Given the description of an element on the screen output the (x, y) to click on. 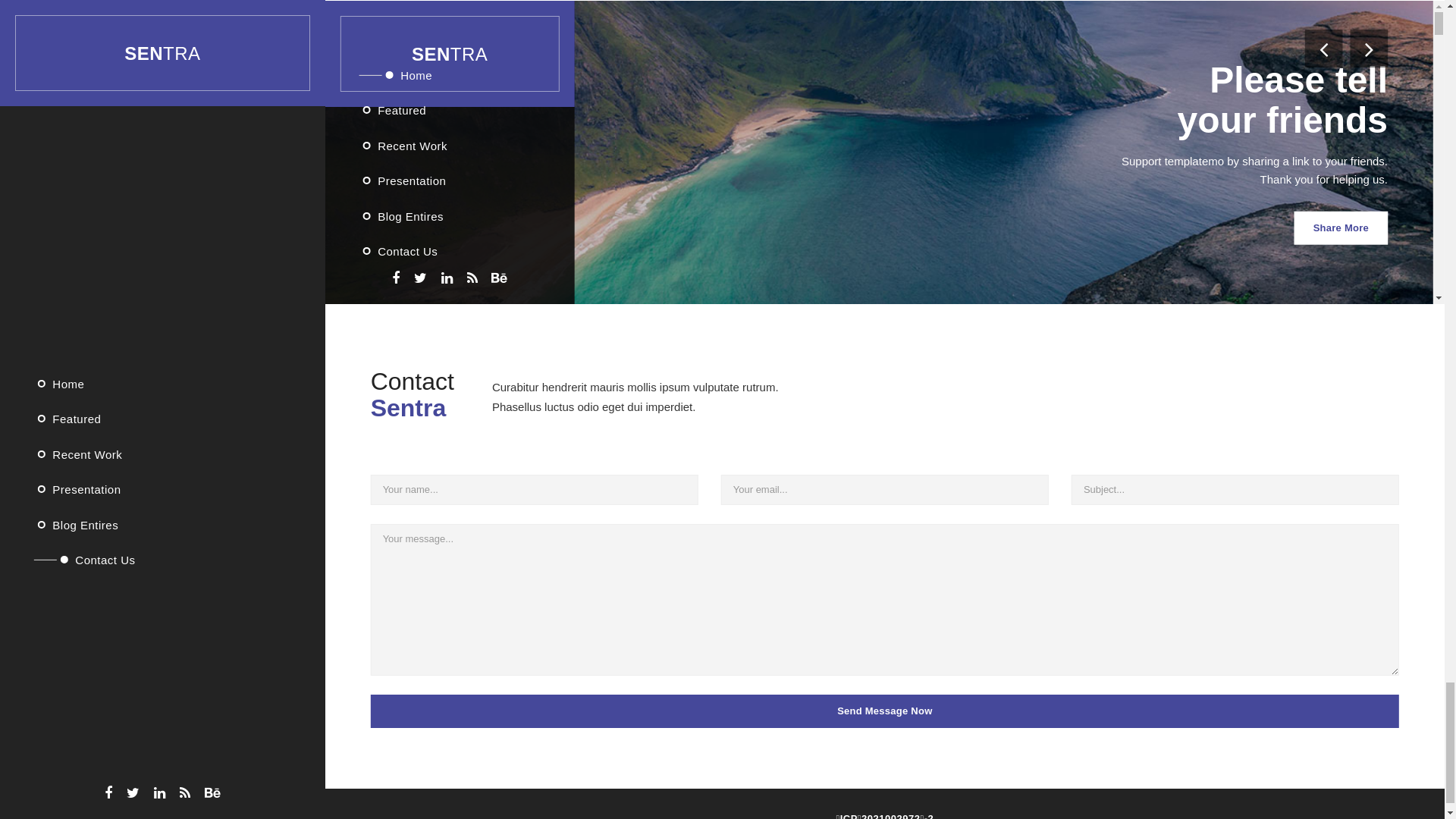
Share More Element type: text (1352, 484)
